Given the description of an element on the screen output the (x, y) to click on. 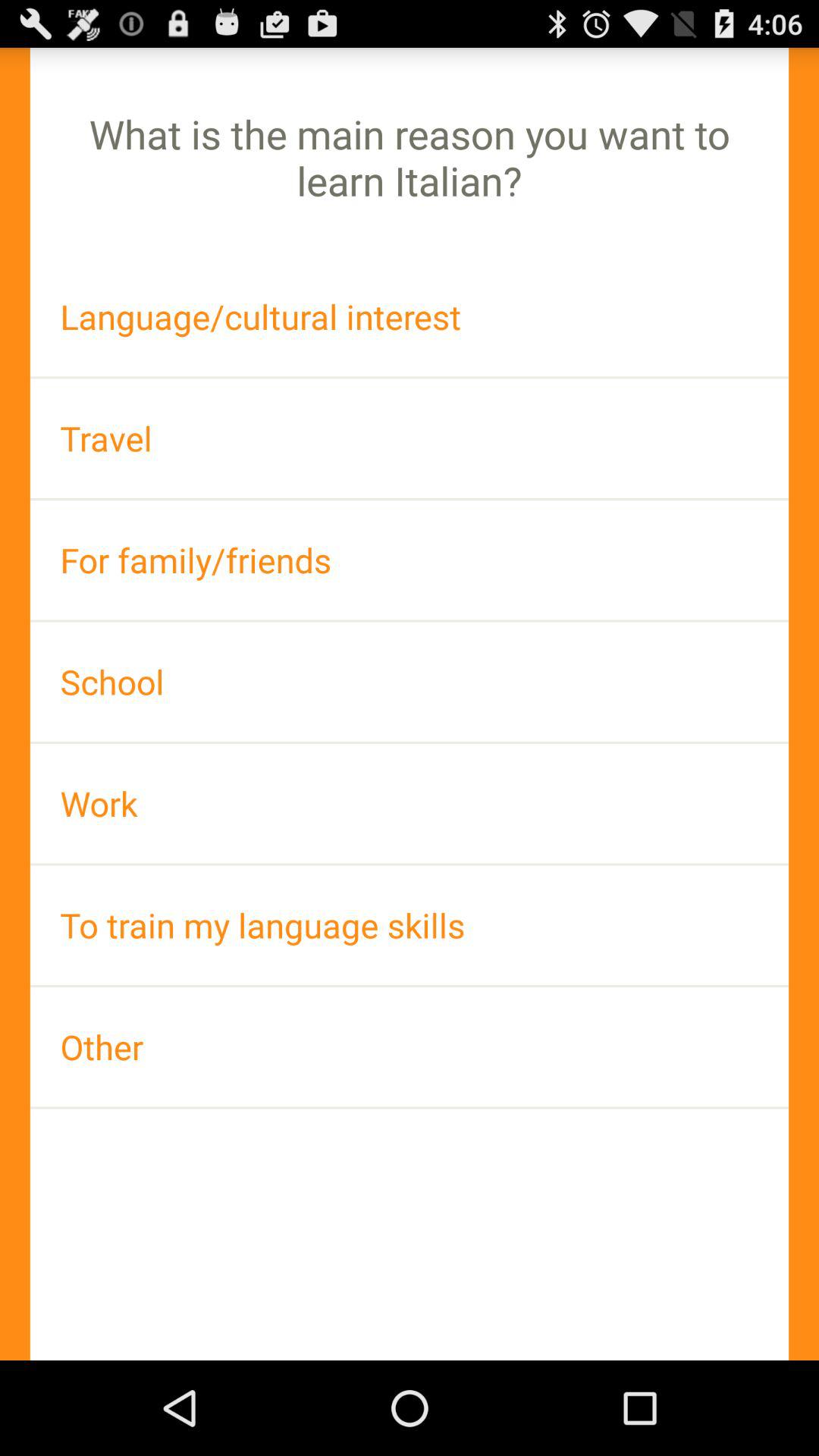
launch work app (409, 803)
